Given the description of an element on the screen output the (x, y) to click on. 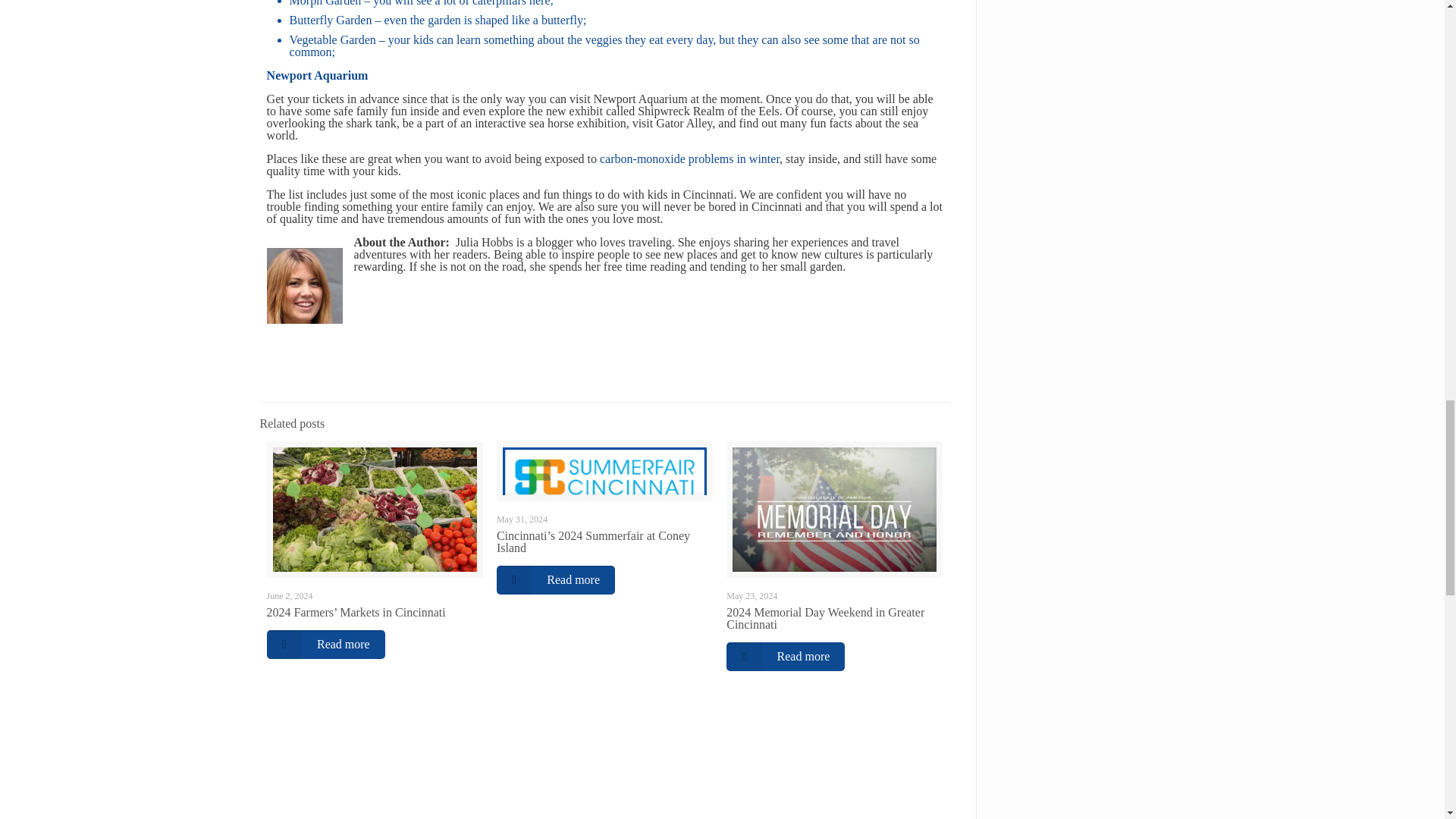
2024 Memorial Day Weekend in Greater Cincinnati (825, 618)
carbon-monoxide problems in winter (687, 158)
Read more (785, 656)
Read more (325, 644)
Read more (555, 579)
